Given the description of an element on the screen output the (x, y) to click on. 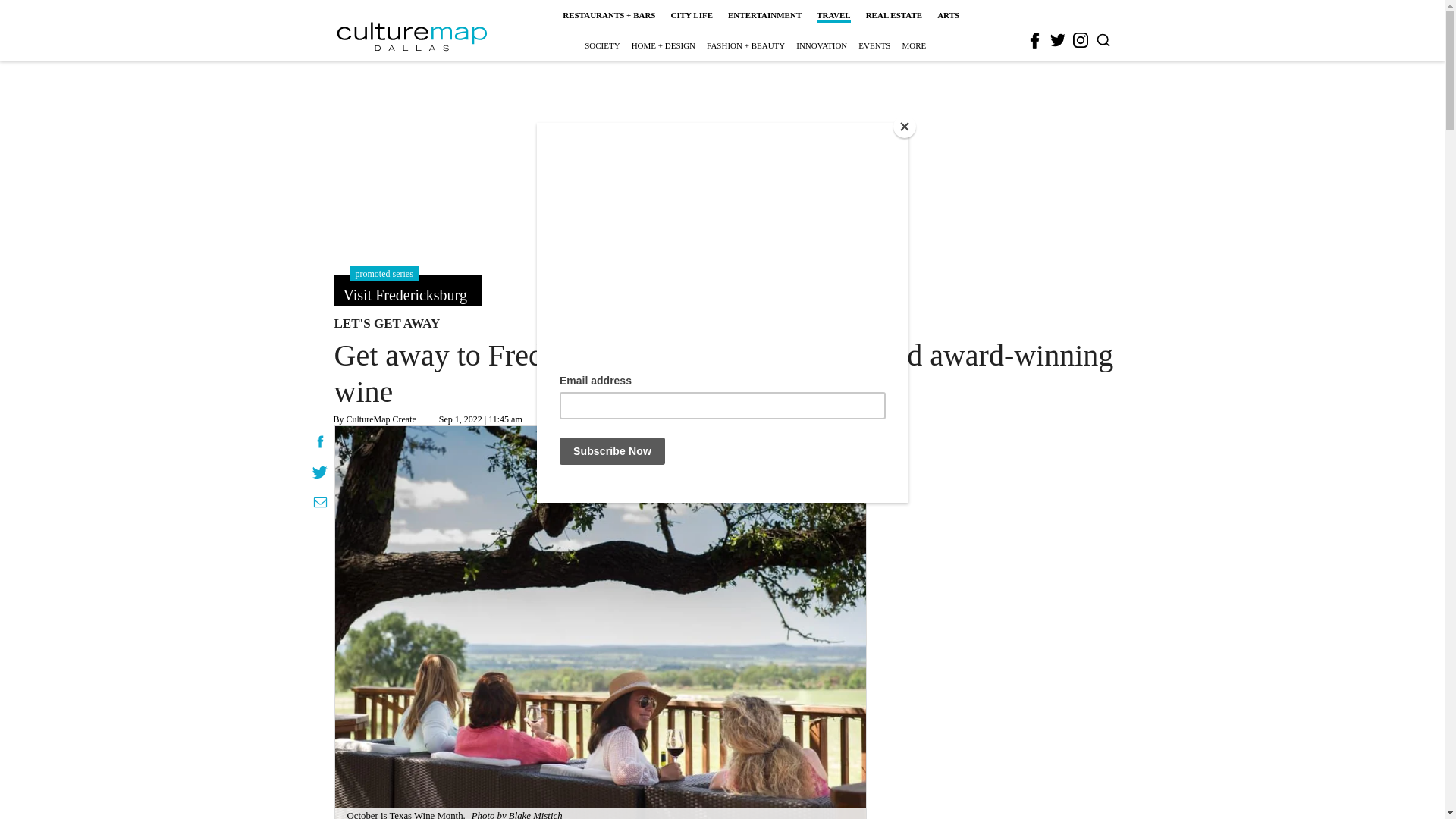
3rd party ad content (721, 160)
